Given the description of an element on the screen output the (x, y) to click on. 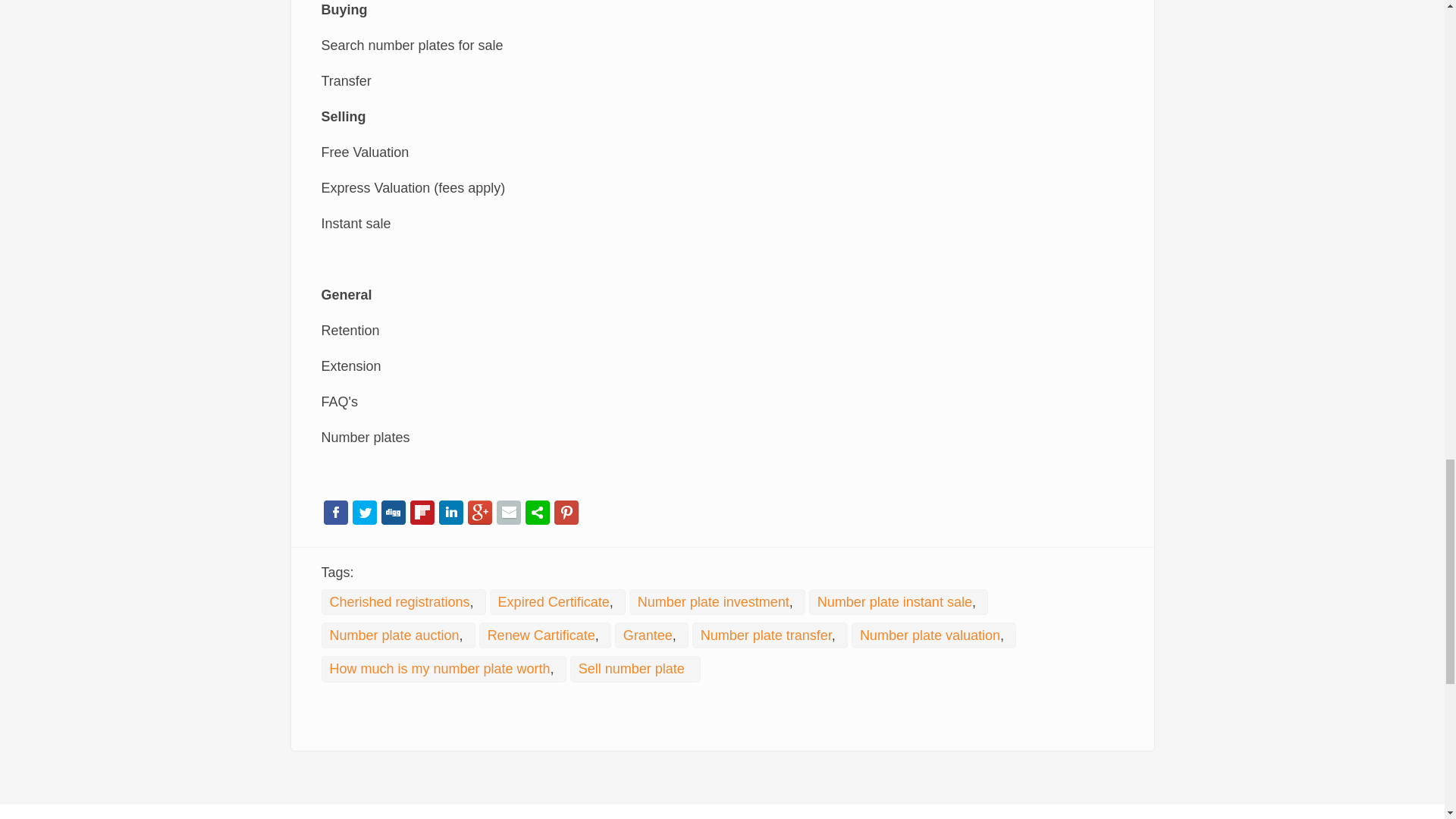
Number plate investment (713, 601)
Grantee (647, 635)
Number plate instant sale (894, 601)
Number plate transfer (765, 635)
Number plate valuation (930, 635)
Expired Certificate (553, 601)
Cherished registrations (398, 601)
Number plate auction (393, 635)
Renew Cartificate (541, 635)
How much is my number plate worth (439, 668)
